Given the description of an element on the screen output the (x, y) to click on. 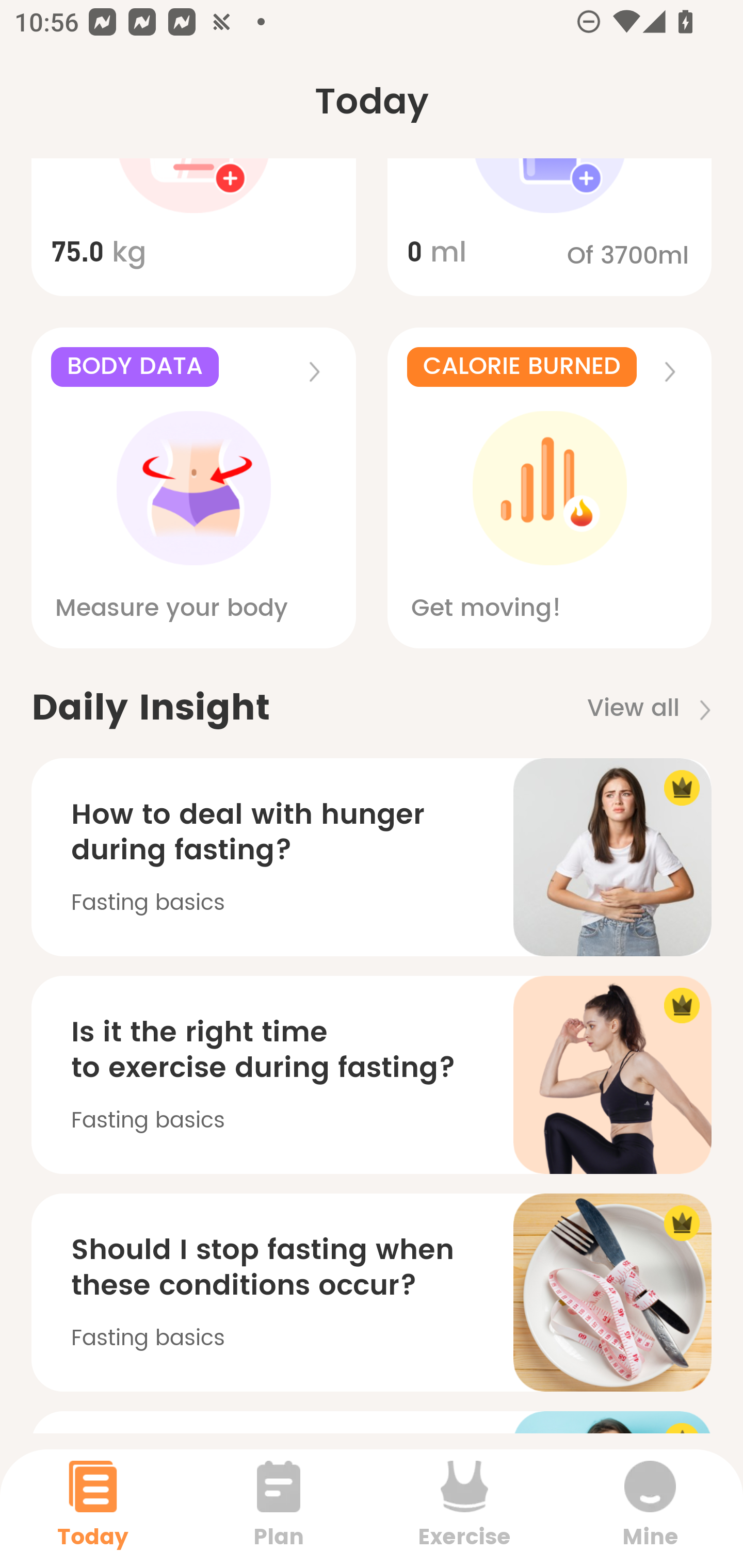
BODY DATA Measure your body (193, 487)
CALORIE BURNED Get moving! (549, 487)
View all (656, 708)
Plan (278, 1508)
Exercise (464, 1508)
Mine (650, 1508)
